Given the description of an element on the screen output the (x, y) to click on. 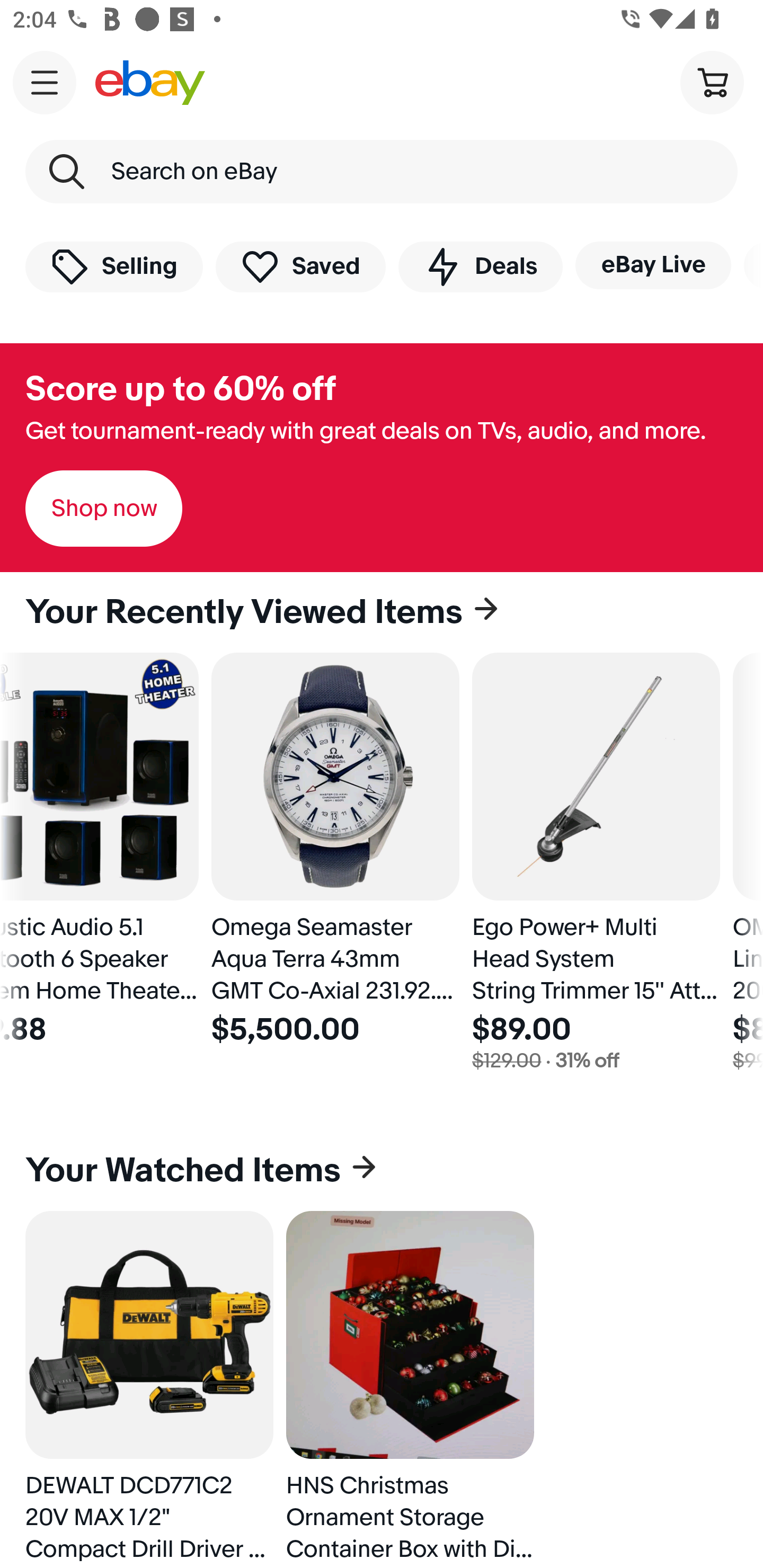
Main navigation, open (44, 82)
Cart button shopping cart (711, 81)
Search on eBay Search Keyword Search on eBay (381, 171)
Selling (113, 266)
Saved (300, 266)
Deals (480, 266)
eBay Live (652, 264)
Score up to 60% off (180, 389)
Shop now (103, 508)
Your Recently Viewed Items   (381, 612)
Your Watched Items   (381, 1170)
